Given the description of an element on the screen output the (x, y) to click on. 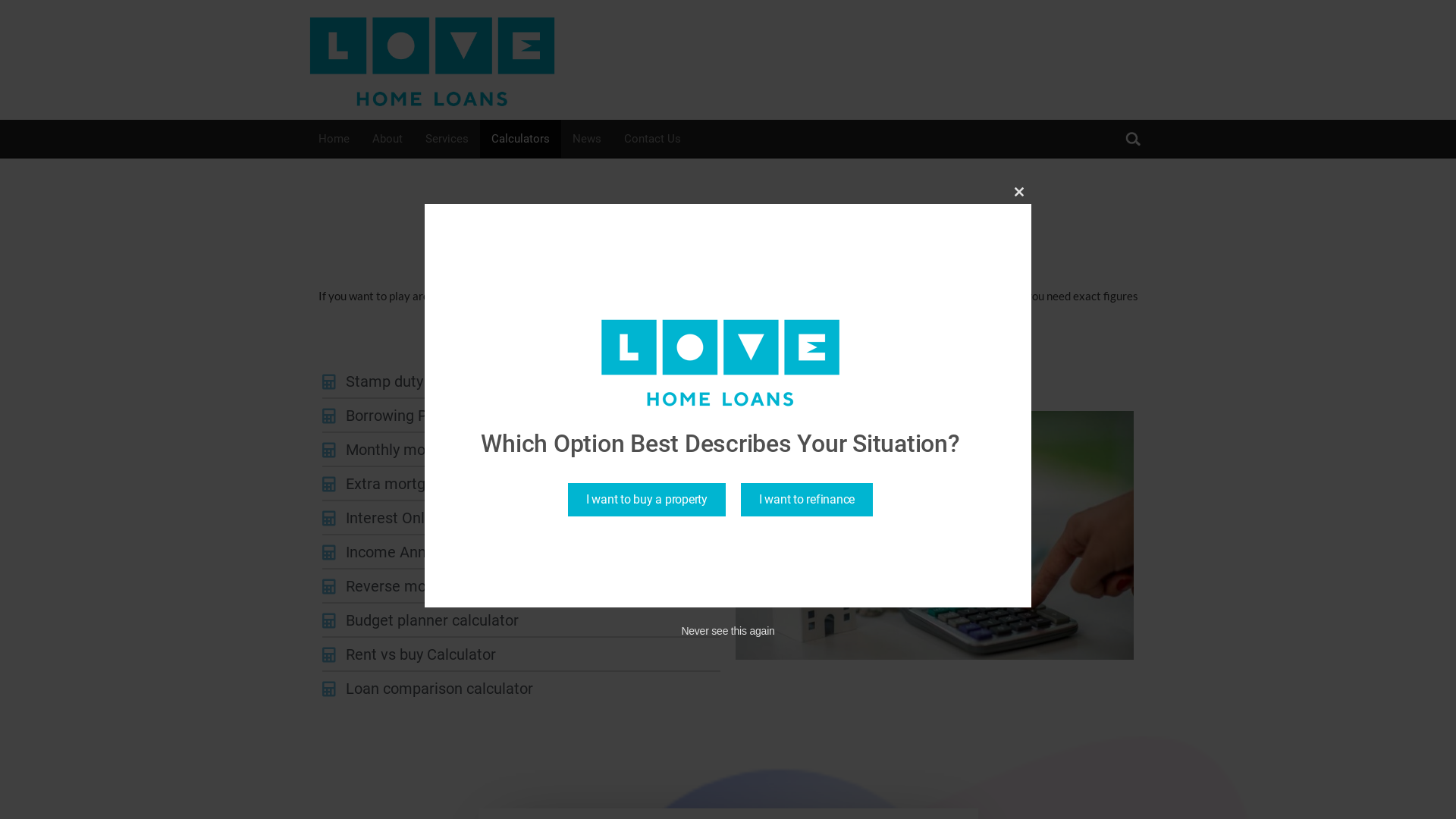
Never see this again Element type: text (727, 630)
Home Element type: text (333, 138)
Rent vs buy Calculator Element type: text (521, 654)
Contact Us Element type: text (652, 138)
Interest Only Mortgage Calculator Element type: text (521, 518)
Extra mortgage repayment calculator Element type: text (521, 484)
Calculators Element type: text (520, 138)
contact me Element type: text (756, 313)
Borrowing Power Calculator Element type: text (521, 415)
About Element type: text (387, 138)
News Element type: text (586, 138)
Close this module Element type: text (1019, 191)
Budget planner calculator Element type: text (521, 620)
I want to buy a property Element type: text (646, 499)
Stamp duty calculator Melbourne Australia Element type: text (521, 381)
Services Element type: text (447, 138)
Reverse mortgage loan calculator Element type: text (521, 586)
I want to refinance Element type: text (806, 499)
Loan comparison calculator Element type: text (521, 688)
Monthly mortgage repayment calculator Element type: text (521, 450)
Income Annualisation Calculator Element type: text (521, 552)
